Given the description of an element on the screen output the (x, y) to click on. 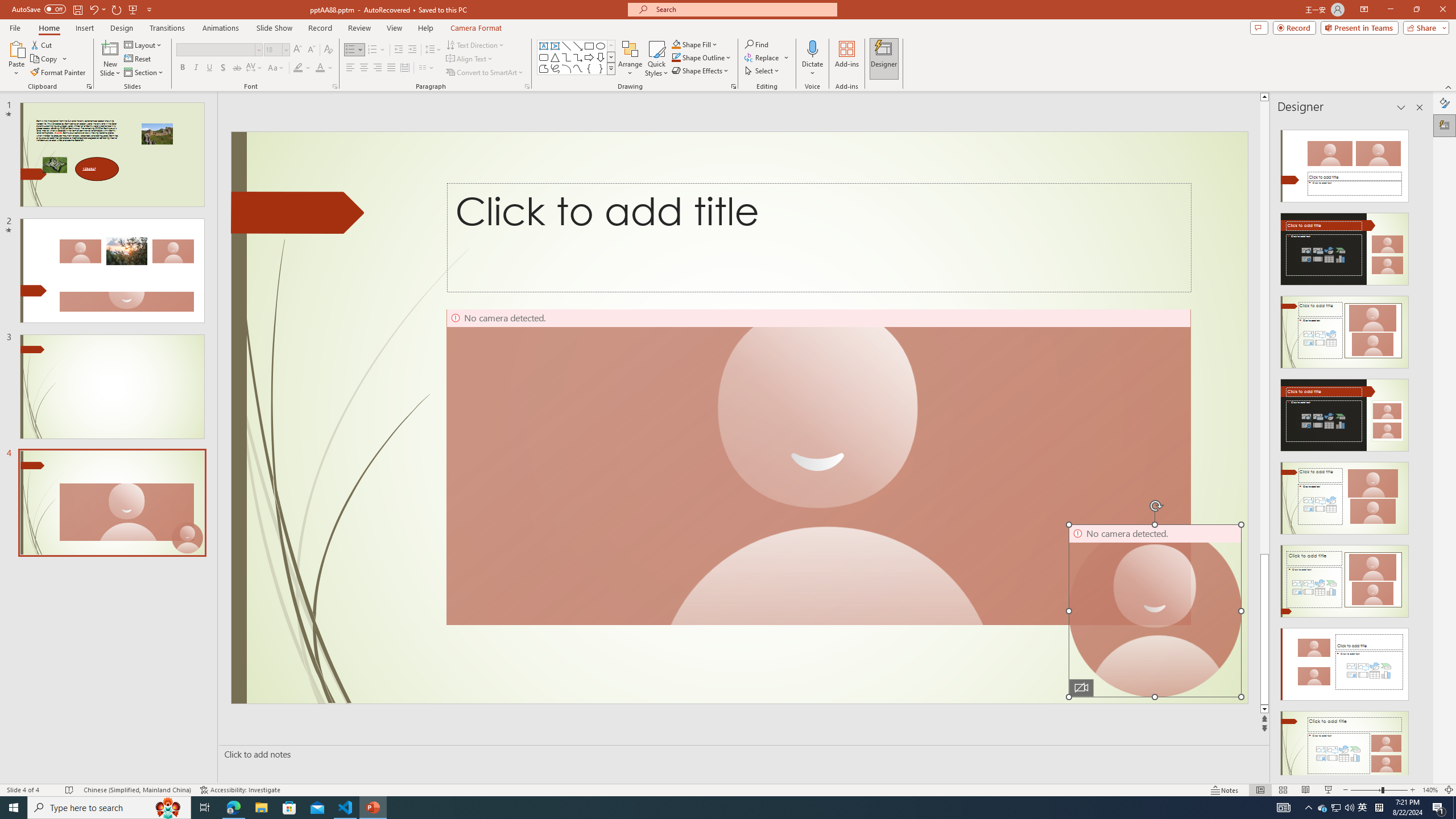
Camera 3, No camera detected. (818, 466)
